Given the description of an element on the screen output the (x, y) to click on. 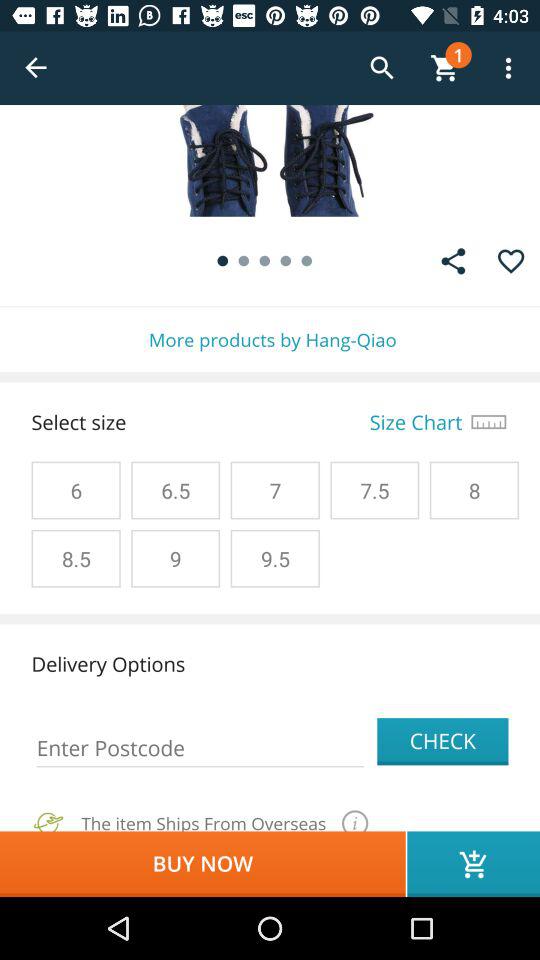
go to gallery (453, 261)
